Given the description of an element on the screen output the (x, y) to click on. 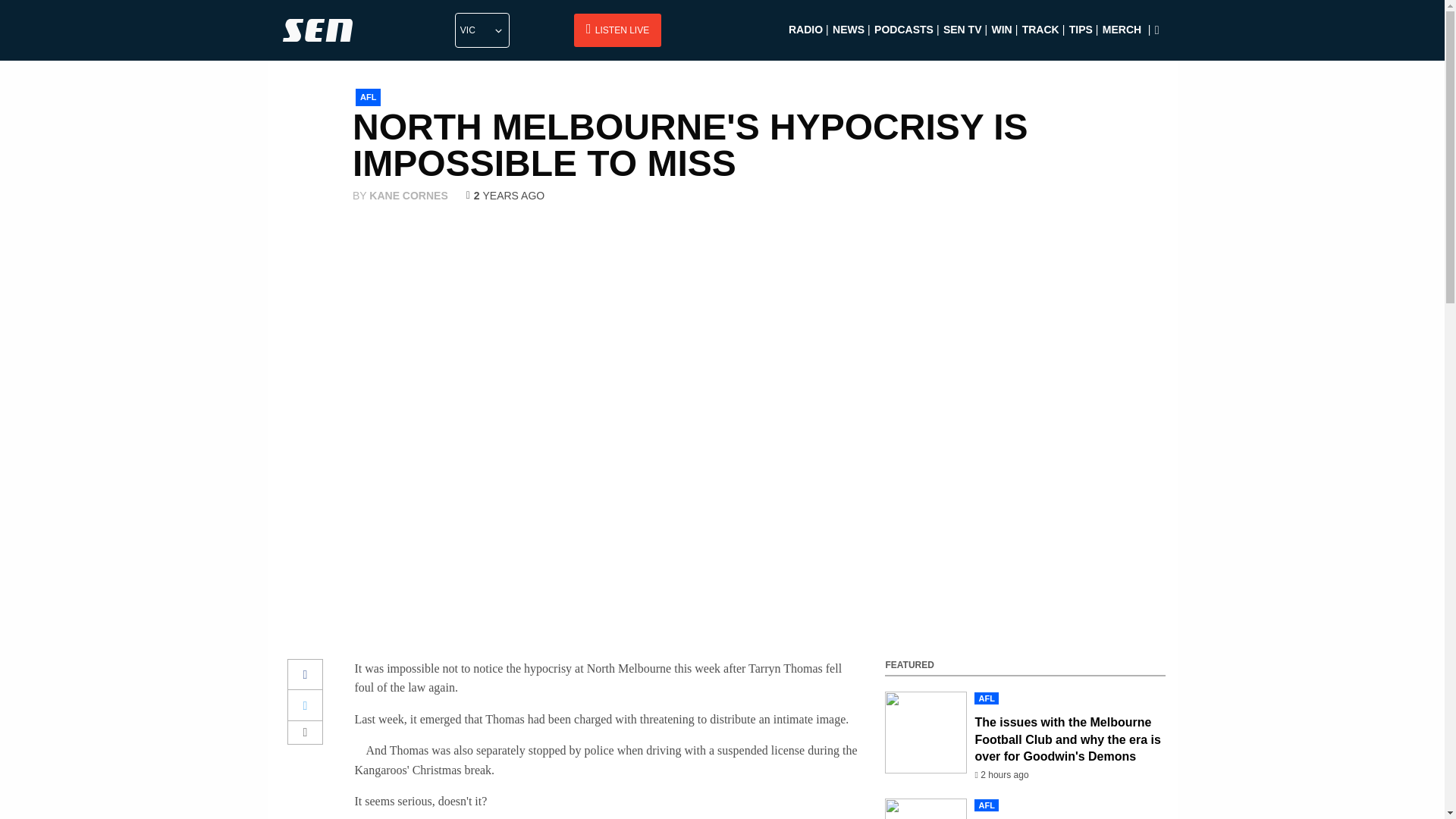
NEWS (848, 37)
LISTEN LIVE (617, 30)
RADIO (805, 37)
VIC (481, 30)
Tweet (305, 705)
Share on Facebook (305, 675)
